Given the description of an element on the screen output the (x, y) to click on. 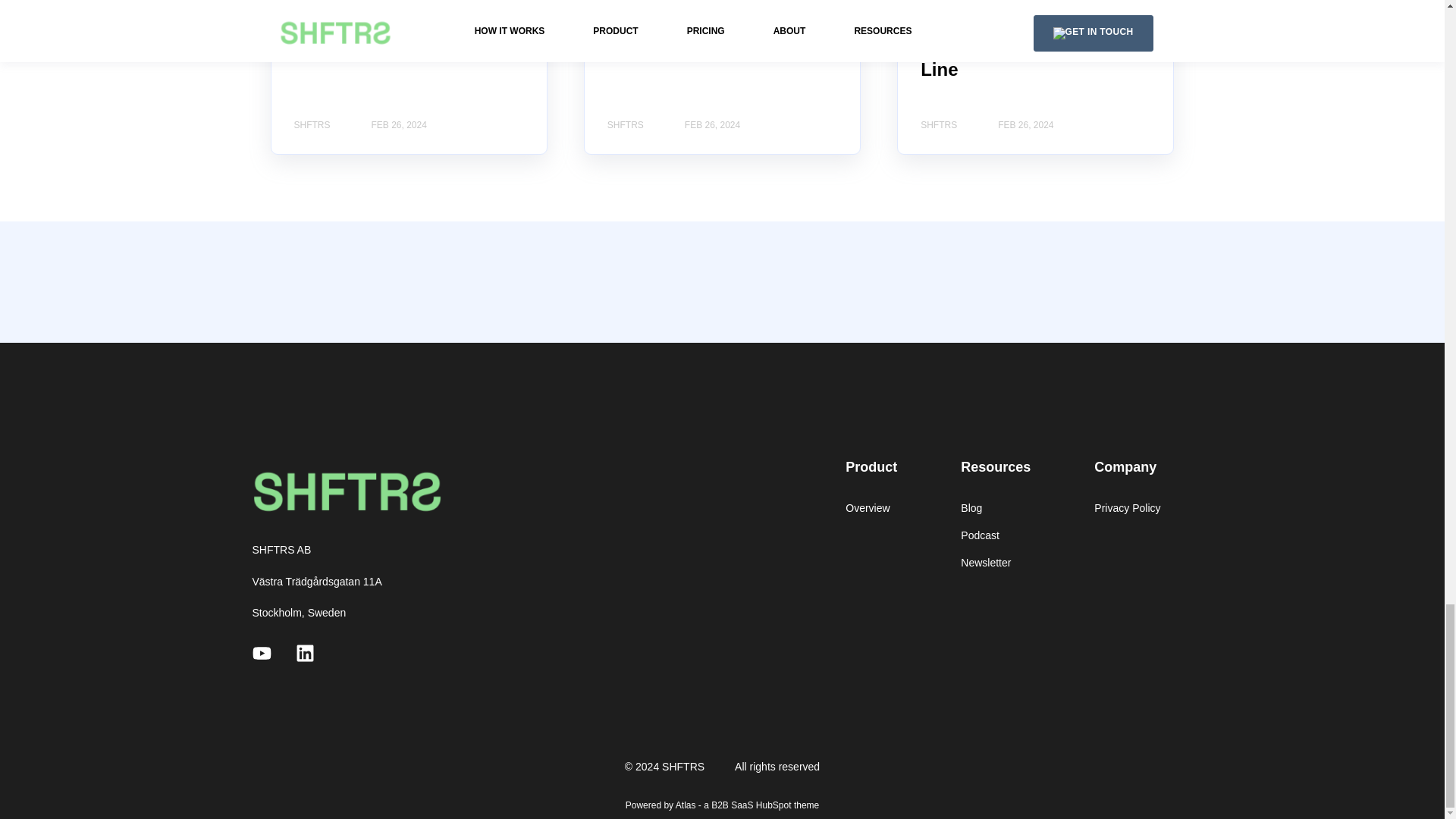
Podcast (995, 535)
Powered by Atlas - a B2B SaaS HubSpot theme (722, 805)
Privacy Policy (1127, 508)
Overview (870, 508)
Blog (995, 508)
Newsletter (995, 562)
